Given the description of an element on the screen output the (x, y) to click on. 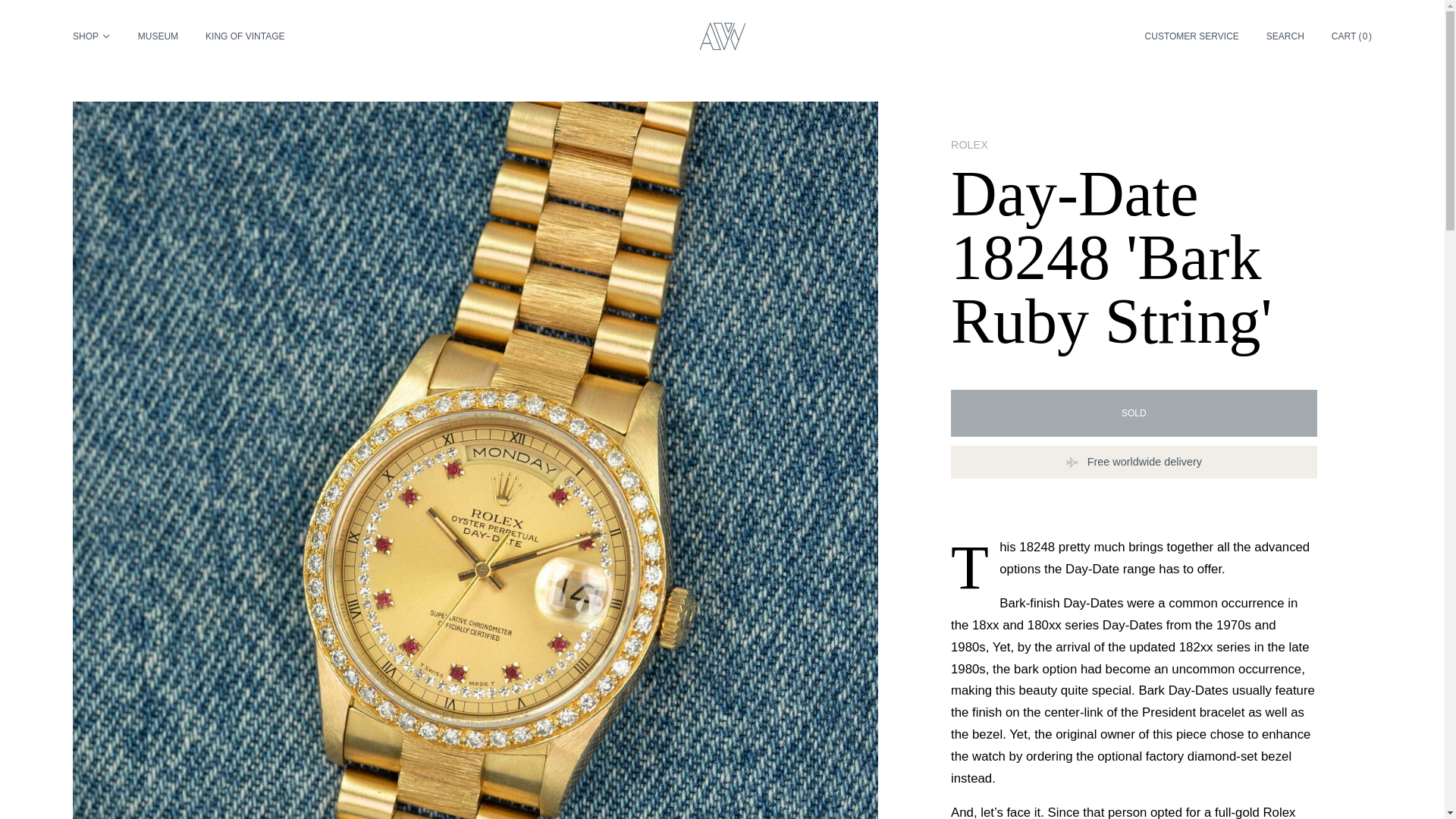
ROLEX (1133, 145)
CUSTOMER SERVICE (1191, 36)
SEARCH (1285, 36)
KING OF VINTAGE (244, 36)
